Given the description of an element on the screen output the (x, y) to click on. 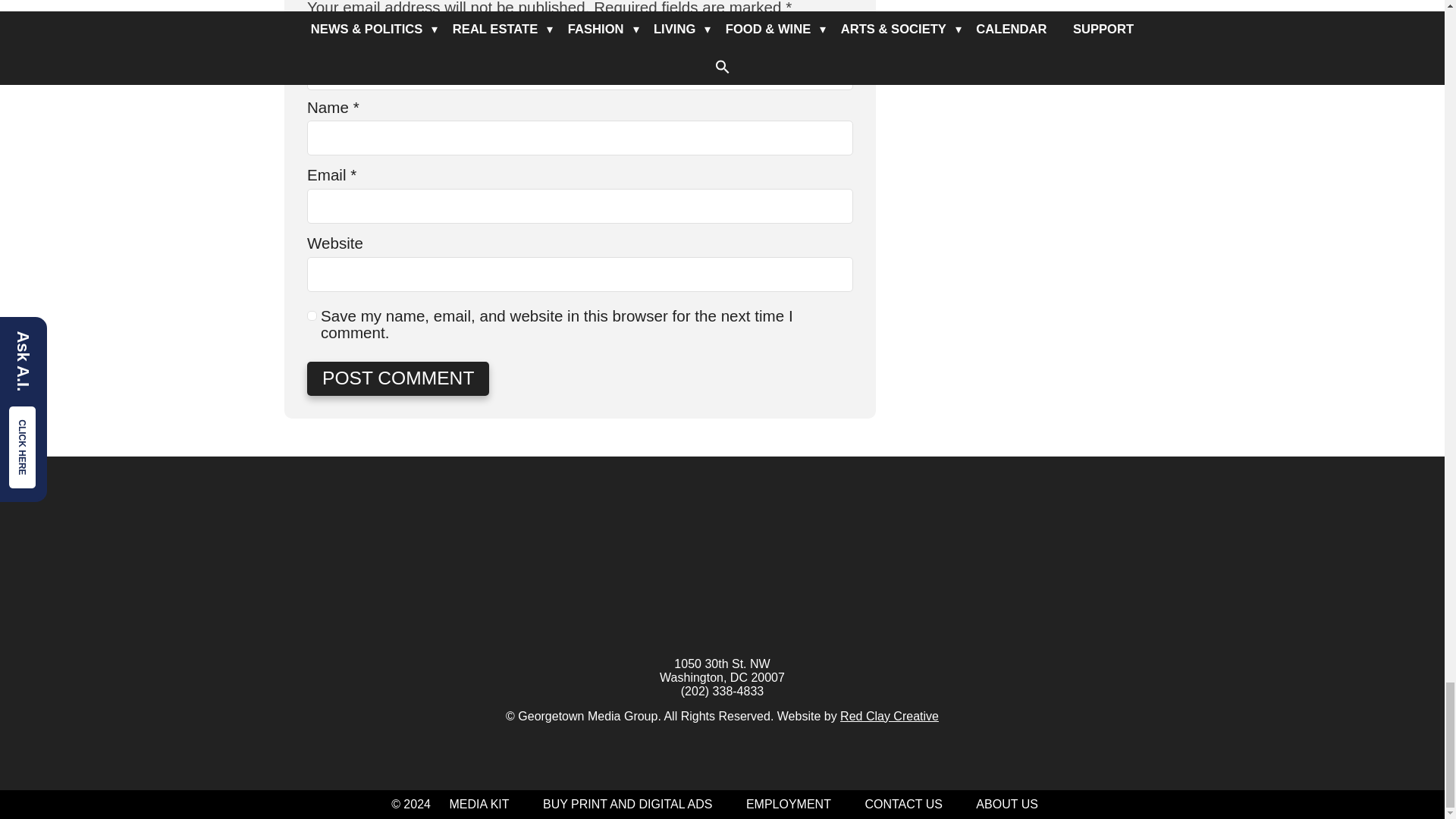
Post Comment (398, 378)
yes (312, 316)
